Given the description of an element on the screen output the (x, y) to click on. 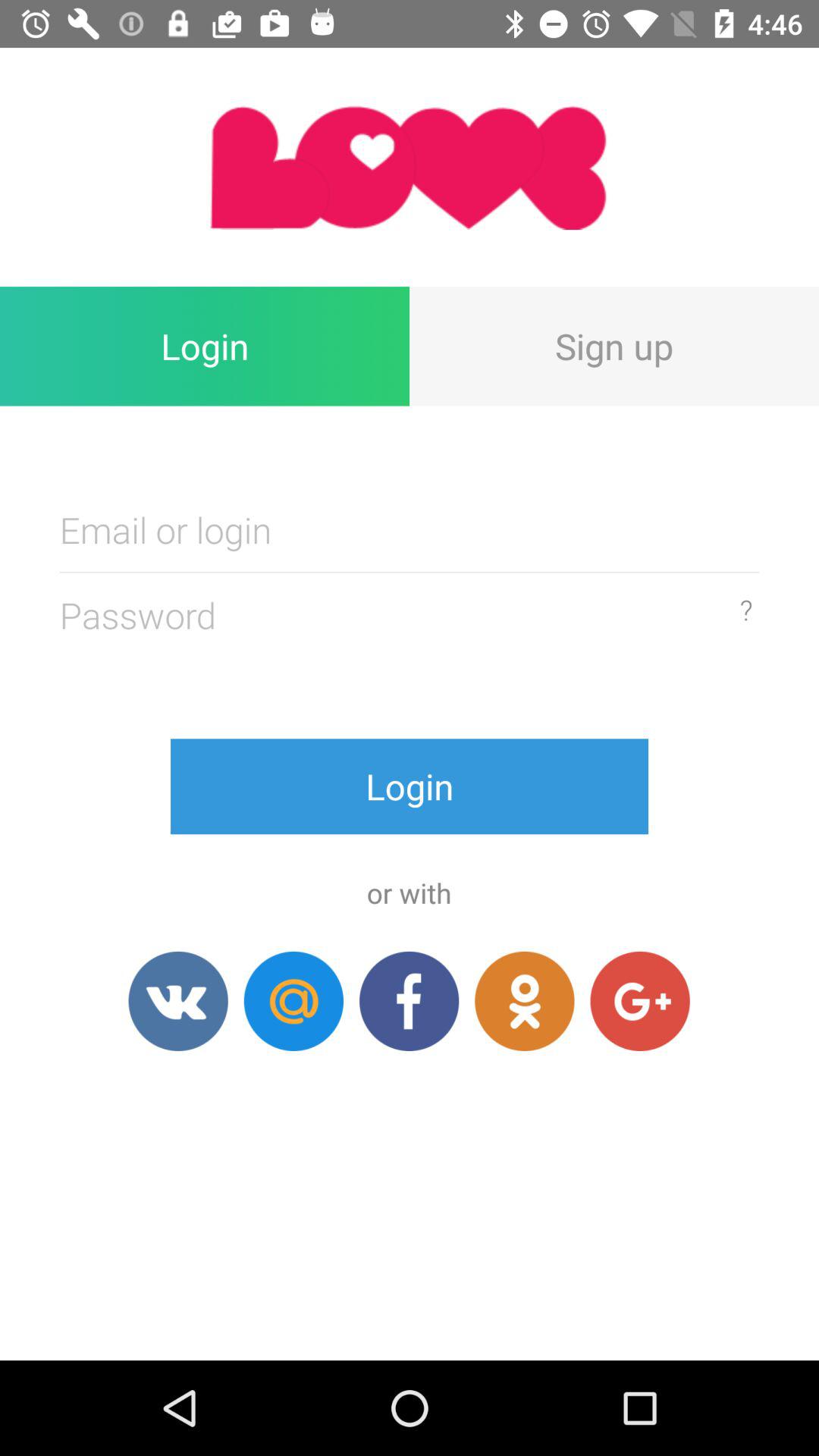
go to email option (293, 1001)
